Given the description of an element on the screen output the (x, y) to click on. 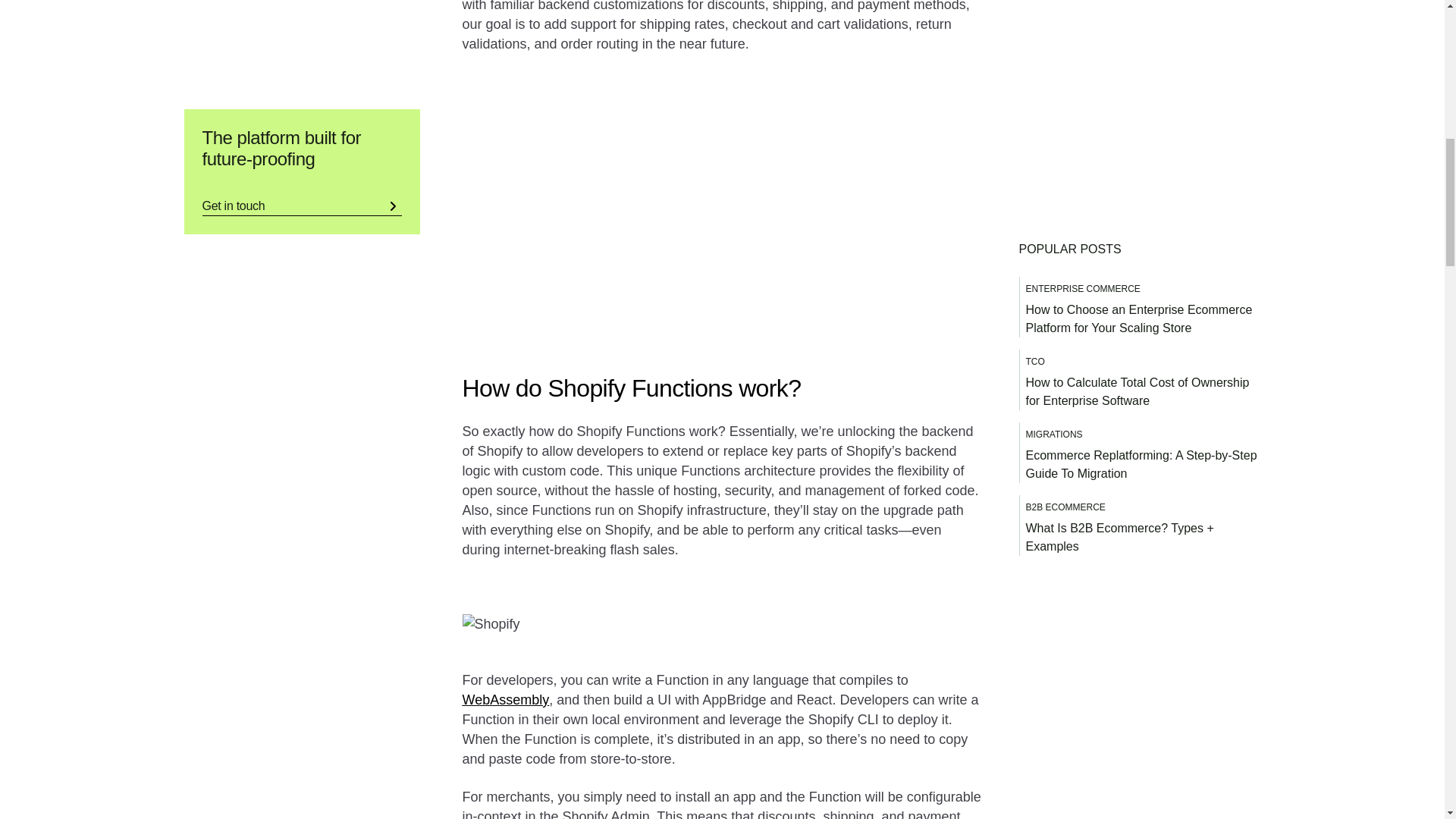
Shopify Functions, Editions intro video (698, 204)
